Given the description of an element on the screen output the (x, y) to click on. 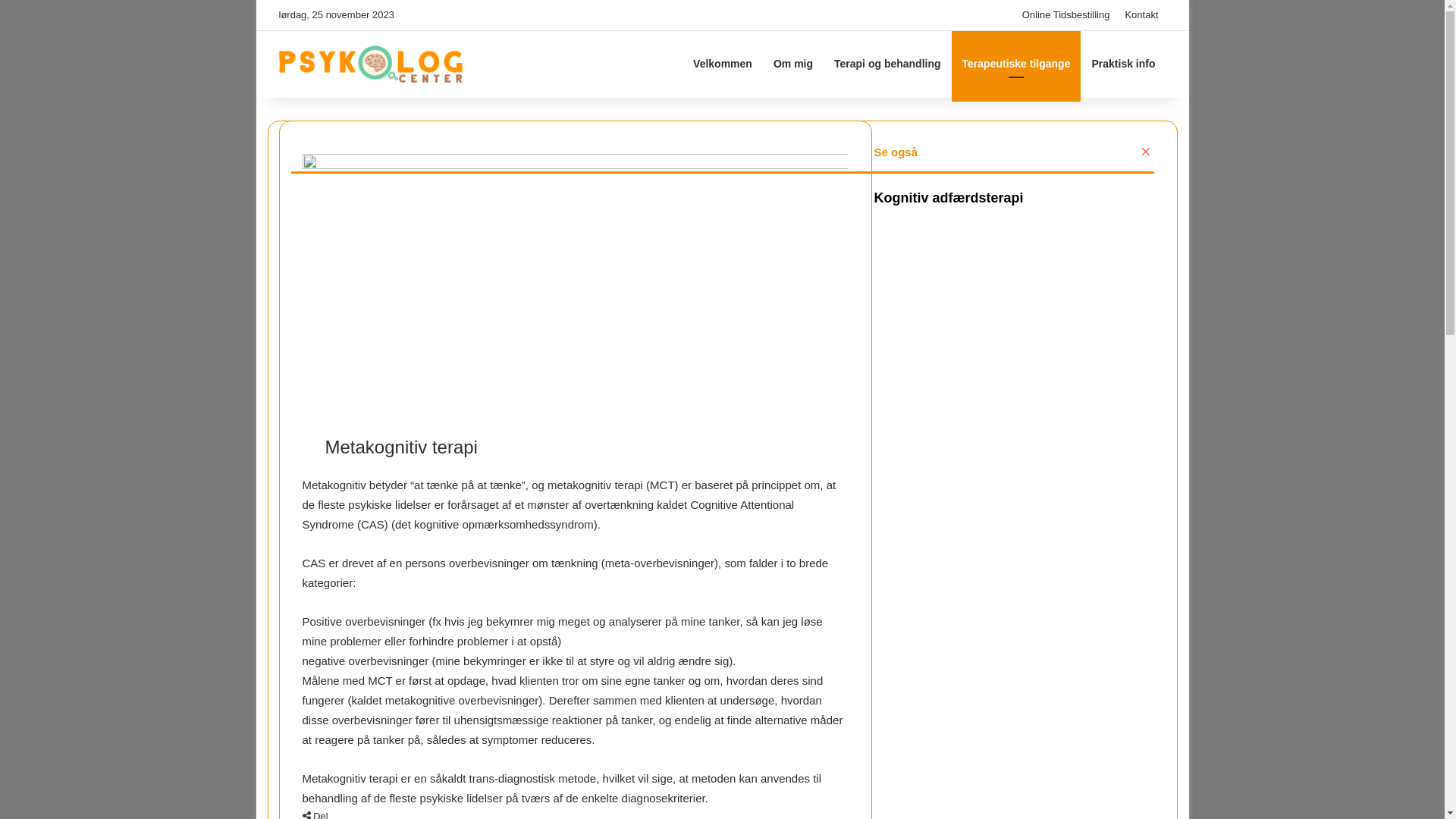
Terapeutiske tilgange Element type: text (1016, 63)
Velkommen Element type: text (722, 63)
Close Element type: text (1146, 151)
Psykologcenter v. Celal Deveci Element type: hover (371, 63)
Praktisk info Element type: text (1122, 63)
Online Tidsbestilling Element type: text (1065, 15)
Om mig Element type: text (792, 63)
Terapi og behandling Element type: text (887, 63)
Kontakt Element type: text (1141, 15)
